Given the description of an element on the screen output the (x, y) to click on. 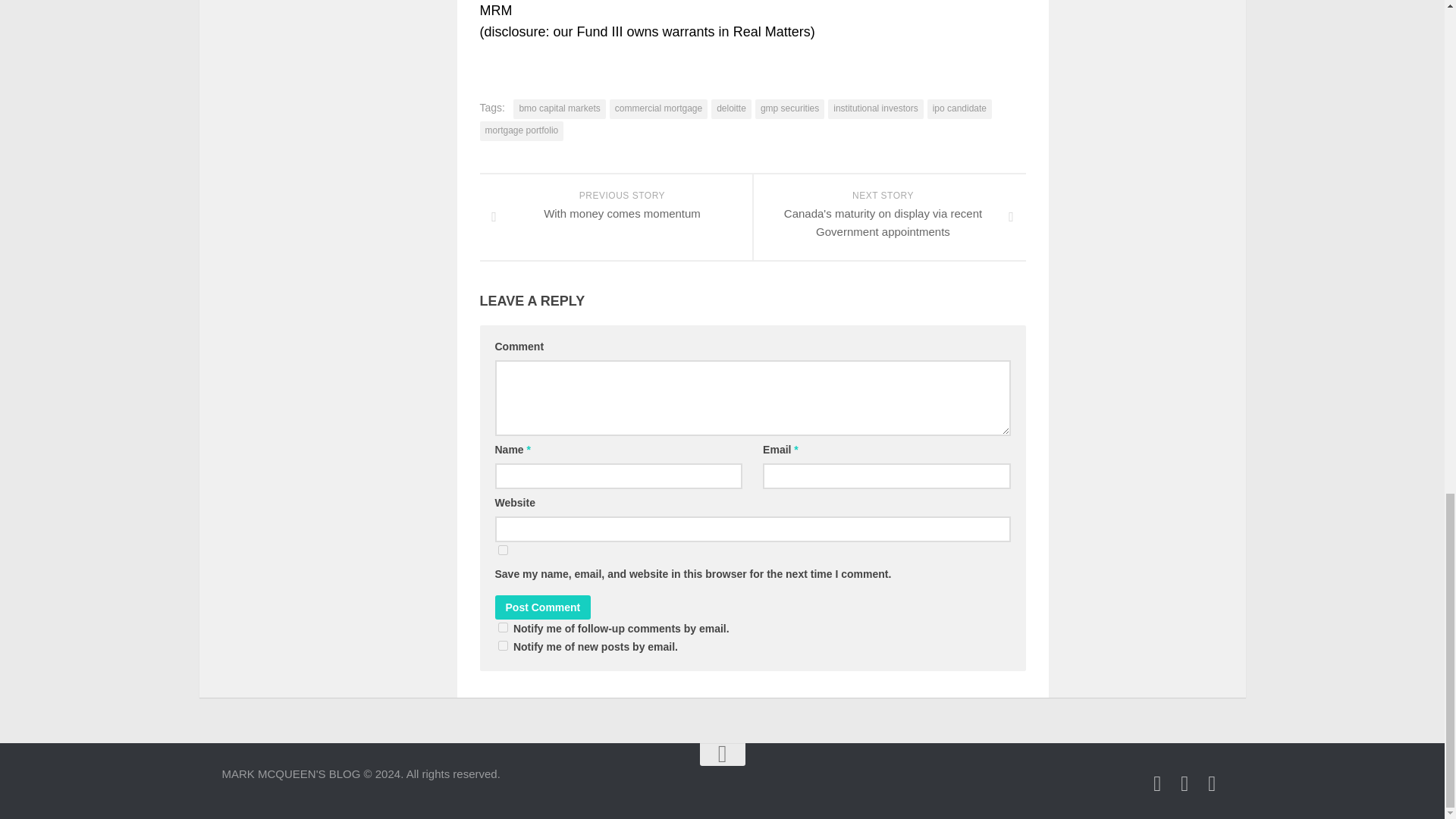
yes (501, 550)
subscribe (501, 645)
Post Comment (543, 607)
commercial mortgage (658, 108)
Add Mark McQueen on Linkedin (1184, 783)
deloitte (731, 108)
Follow Mark McQueen on Twitter (1157, 783)
subscribe (615, 217)
ipo candidate (501, 627)
bmo capital markets (959, 108)
institutional investors (559, 108)
Subscribe to MARK MCQUEEN'S BLOG (875, 108)
gmp securities (1212, 783)
